Given the description of an element on the screen output the (x, y) to click on. 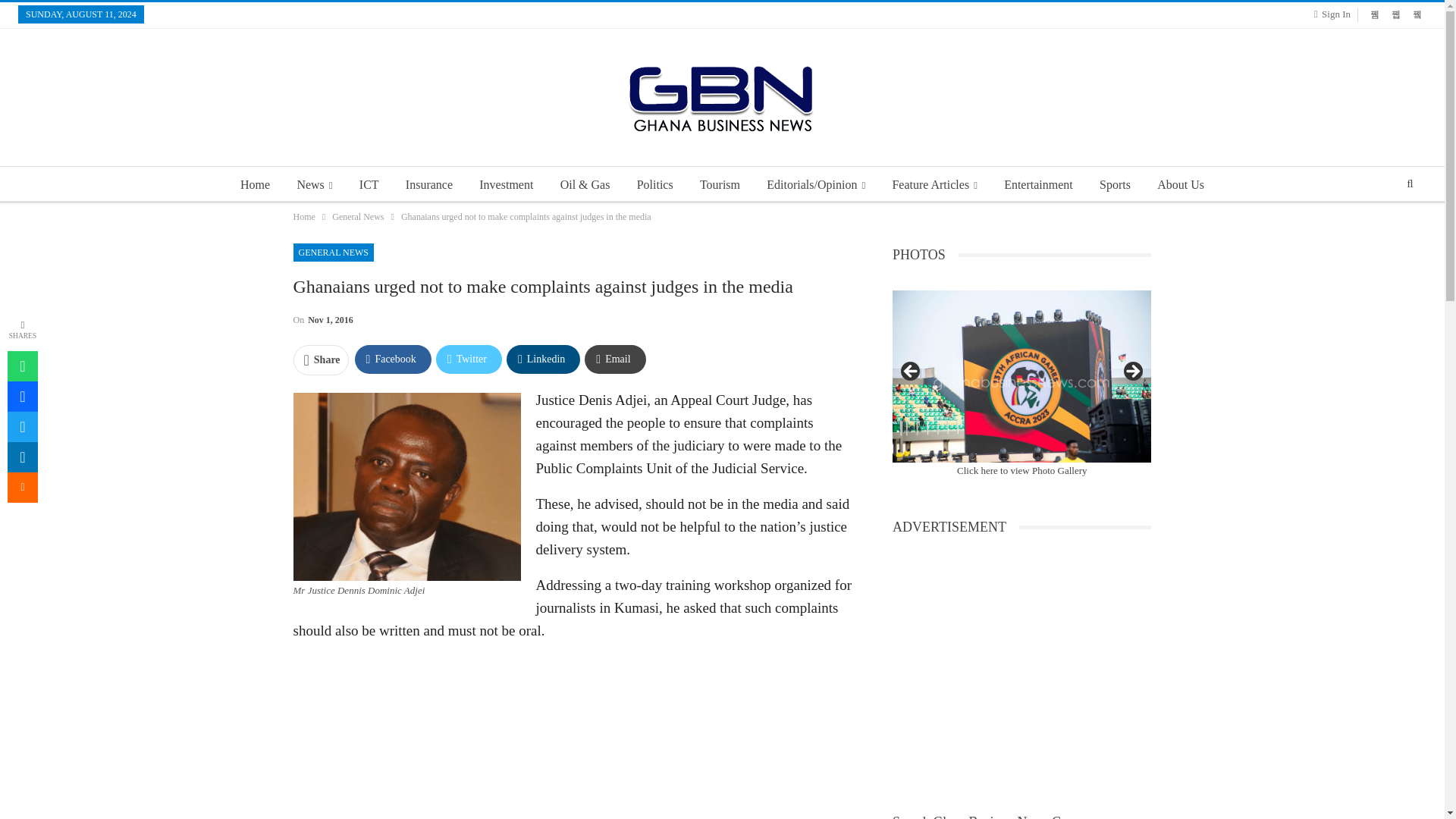
Tourism (719, 185)
ICT (369, 185)
News (313, 185)
Home (303, 216)
Feature Articles (934, 185)
General News (357, 216)
Sign In (1335, 13)
Advertisement (574, 737)
About Us (1180, 185)
Politics (654, 185)
